Given the description of an element on the screen output the (x, y) to click on. 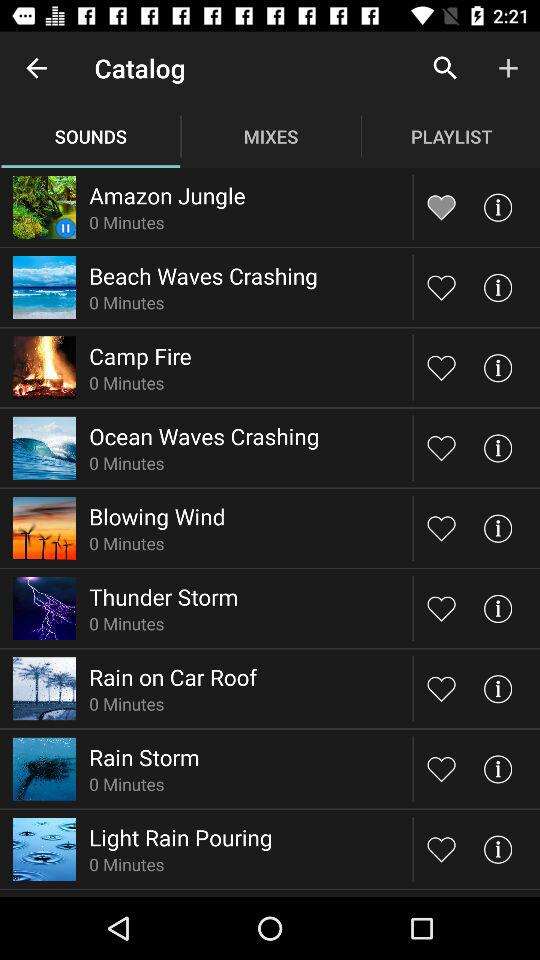
more information (498, 848)
